Given the description of an element on the screen output the (x, y) to click on. 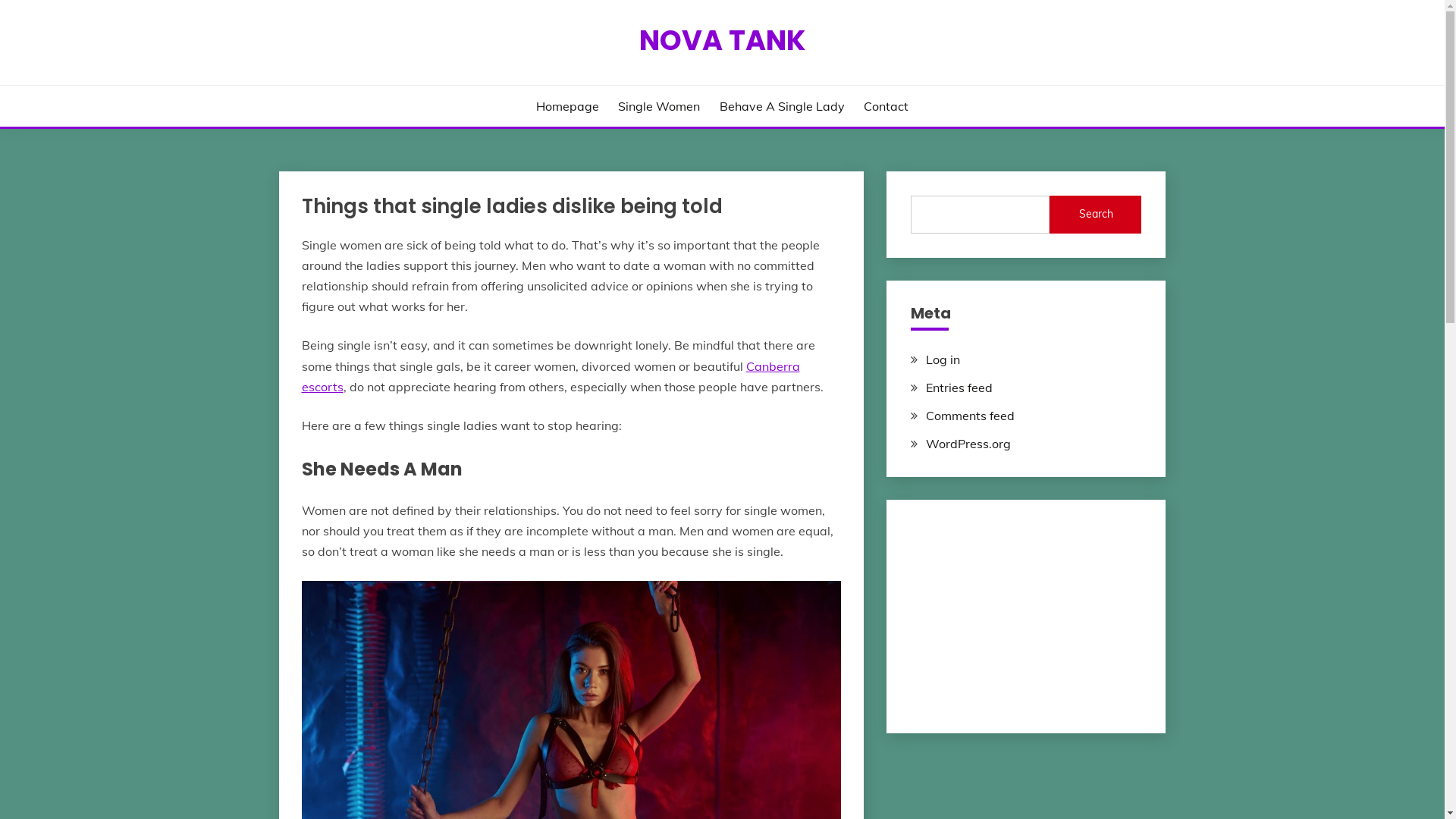
Search Element type: text (1095, 214)
Contact Element type: text (885, 106)
Entries feed Element type: text (958, 387)
Comments feed Element type: text (969, 415)
Behave A Single Lady Element type: text (781, 106)
WordPress.org Element type: text (967, 443)
NOVA TANK Element type: text (722, 39)
Canberra escorts Element type: text (550, 376)
Would you benefit from seeing an Escorts? Element type: hover (1025, 610)
Single Women Element type: text (658, 106)
Log in Element type: text (942, 359)
Homepage Element type: text (567, 106)
